Given the description of an element on the screen output the (x, y) to click on. 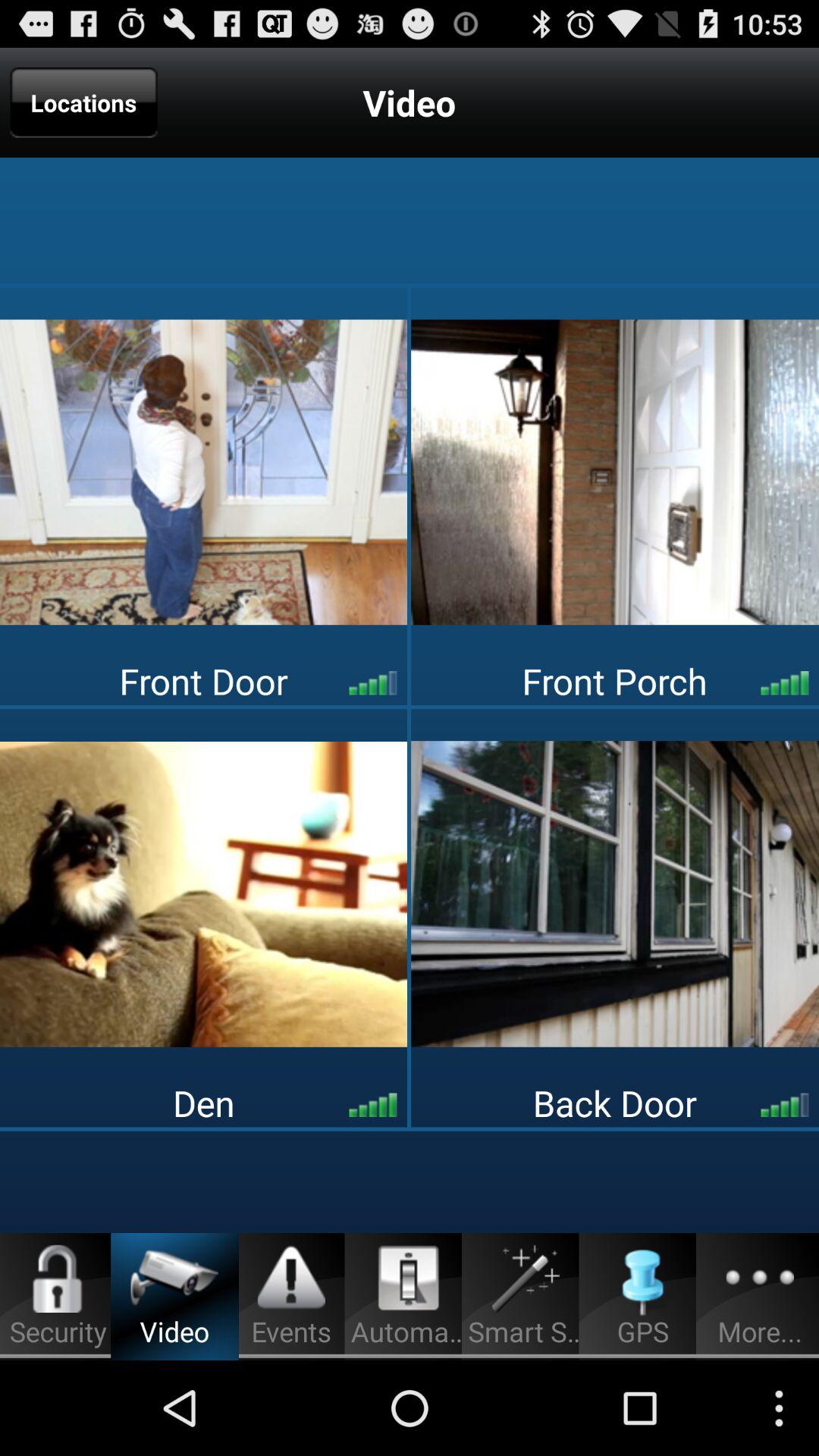
view video (615, 893)
